Given the description of an element on the screen output the (x, y) to click on. 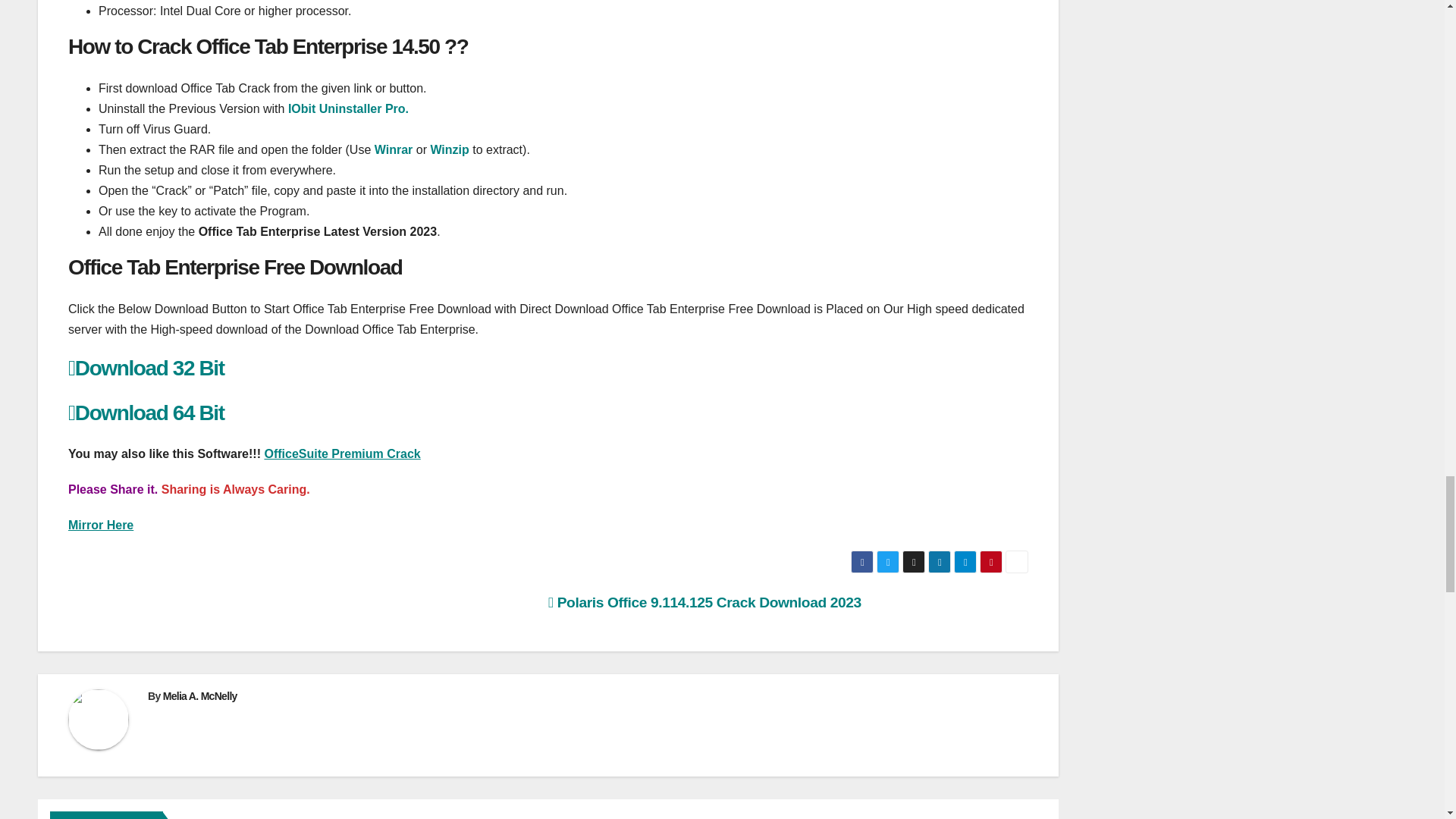
Download 64 Bit (146, 413)
Download 32 Bit (146, 368)
Download 64 Bit (146, 413)
IObit Uninstaller Pro. (348, 108)
Winzip (448, 149)
Download 32 Bit (146, 368)
Winrar (393, 149)
